Given the description of an element on the screen output the (x, y) to click on. 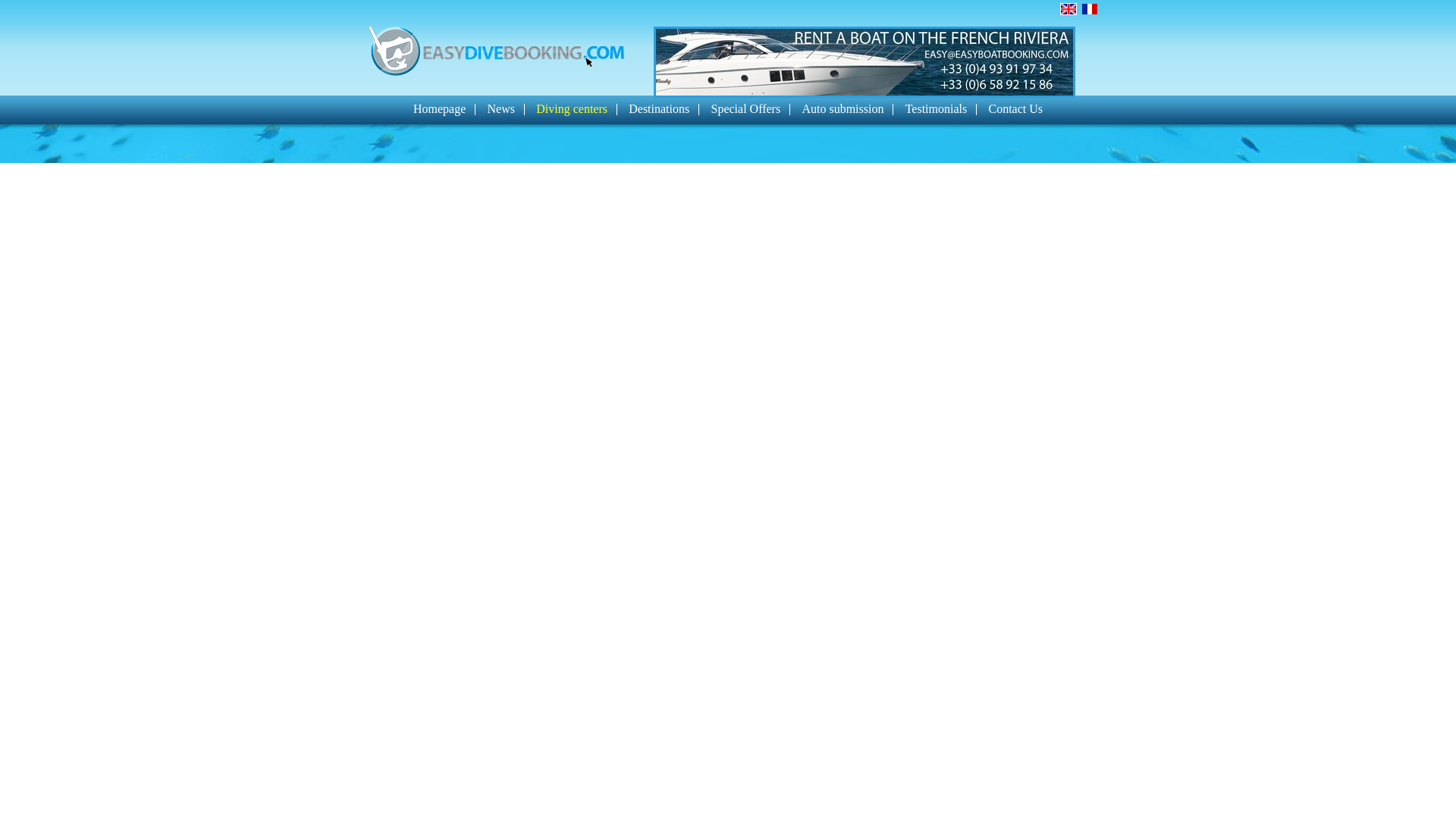
Diving centers (571, 108)
Contact Us (1015, 108)
Yacht charter French Riviera (864, 61)
Auto submission (842, 108)
Easy dive booking: book online a scuba-diving (496, 51)
Destinations (658, 108)
Easy dive booking: book online a scuba-diving (496, 50)
Testimonials (936, 108)
News (501, 108)
Special Offers (745, 108)
